Given the description of an element on the screen output the (x, y) to click on. 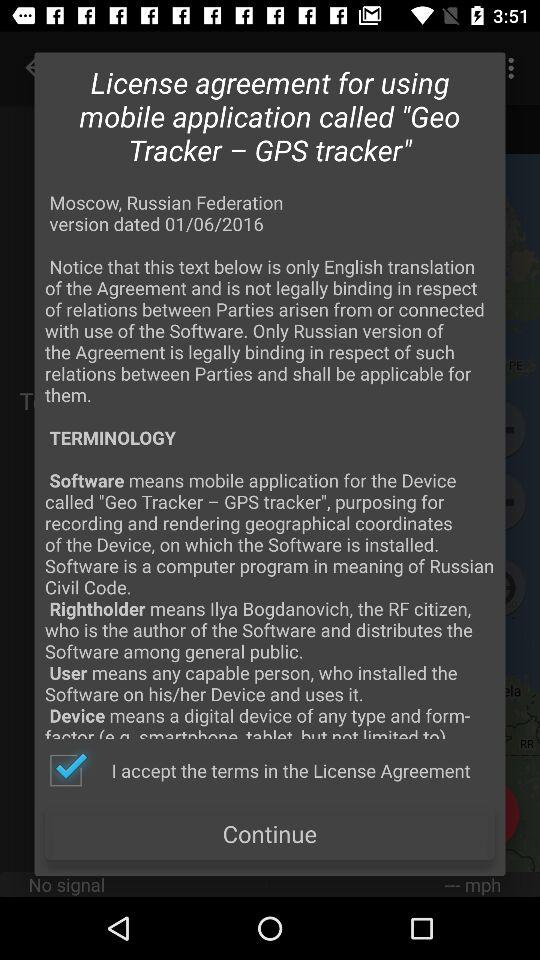
jump to the i accept the app (259, 770)
